Given the description of an element on the screen output the (x, y) to click on. 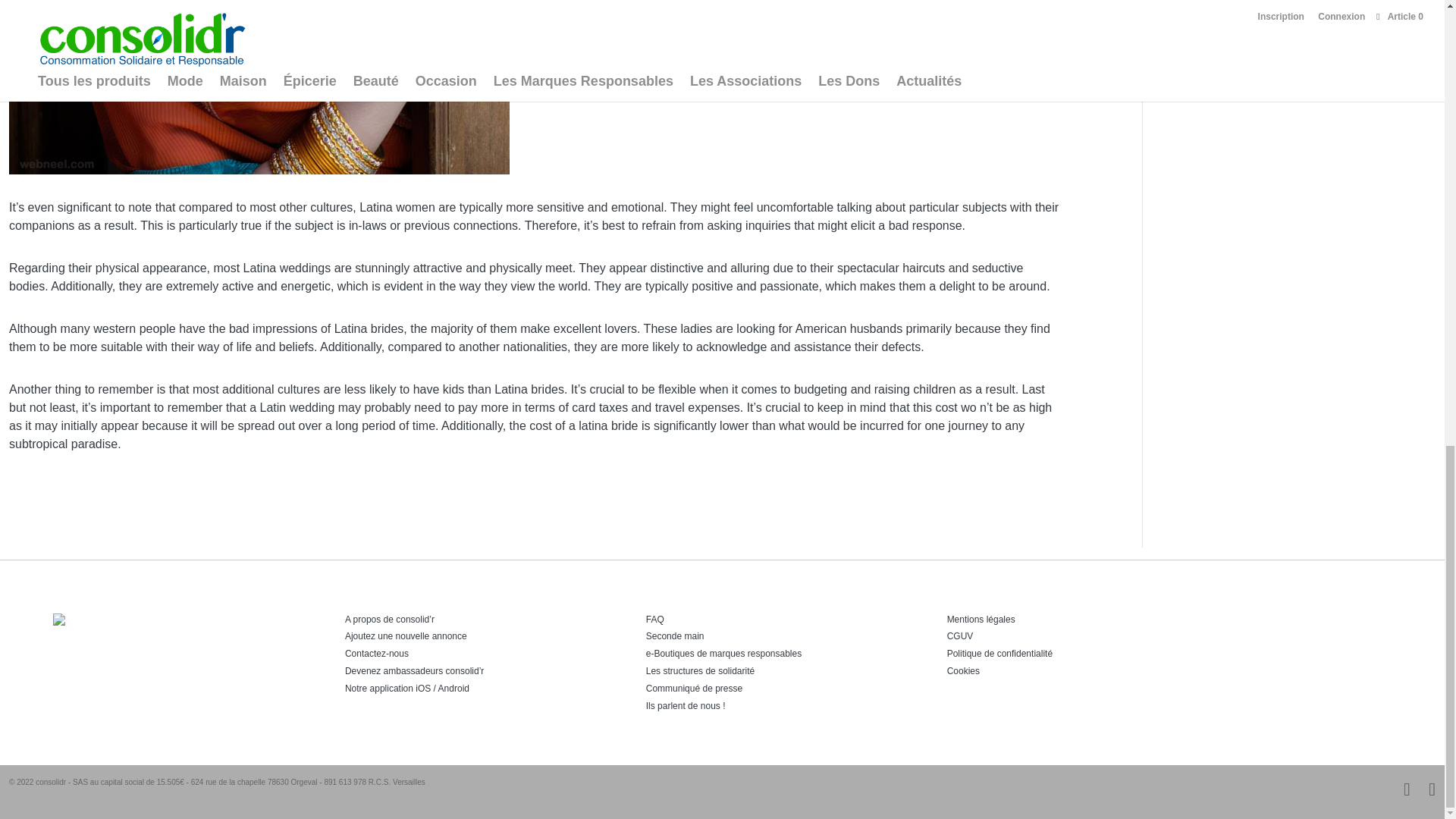
Ajoutez une nouvelle annonce (406, 635)
Seconde main (675, 635)
Contactez-nous (377, 653)
FAQ (654, 619)
e-Boutiques de marques responsables (724, 653)
CGUV (960, 635)
Ils parlent de nous ! (685, 706)
